Given the description of an element on the screen output the (x, y) to click on. 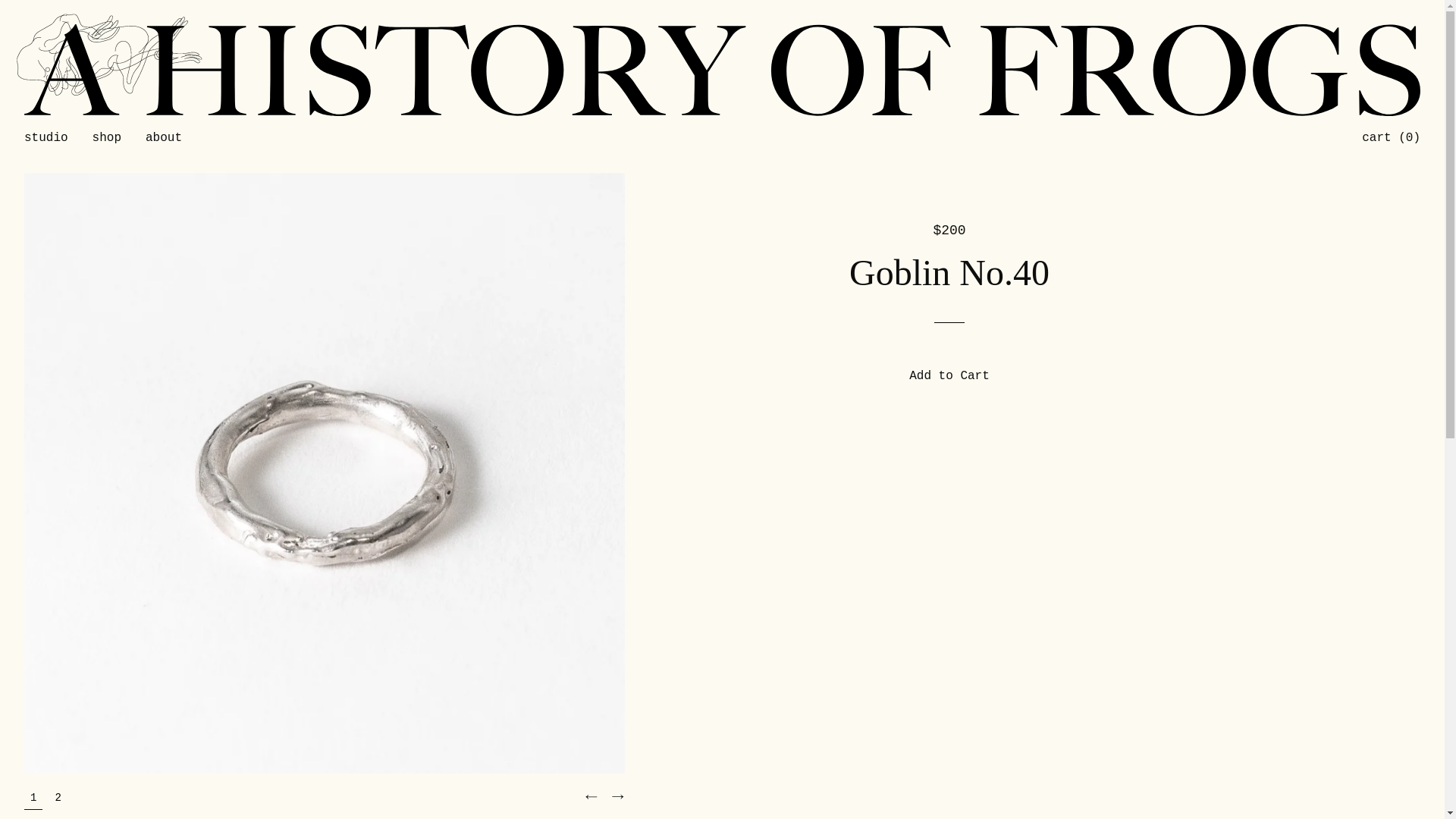
1 (33, 797)
Add to Cart (949, 376)
studio (46, 138)
about (163, 138)
shop (106, 138)
2 (57, 796)
